Given the description of an element on the screen output the (x, y) to click on. 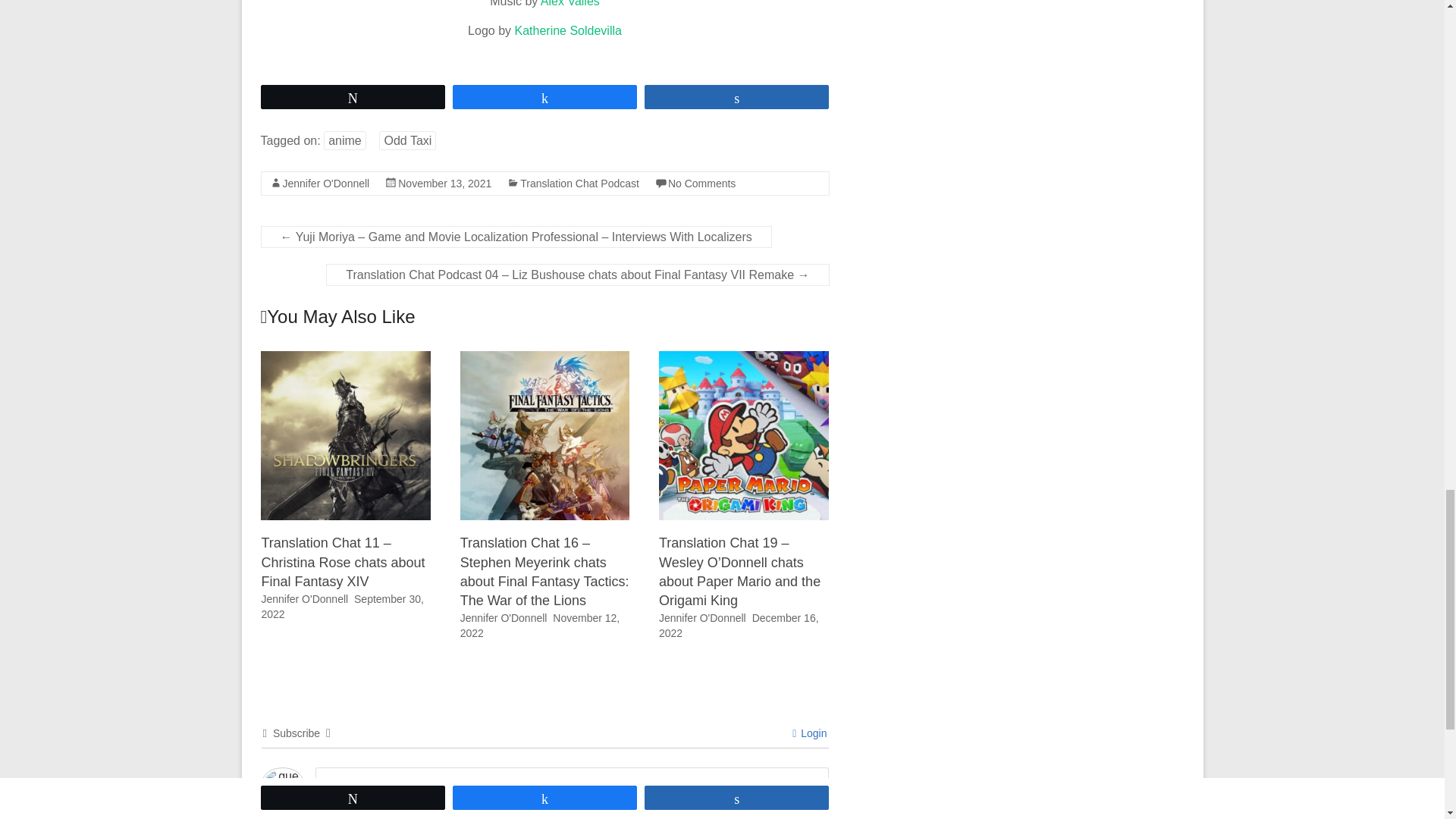
Alex Valles (569, 3)
Jennifer O'Donnell (503, 617)
November 13, 2021 (444, 183)
7:09 pm (540, 625)
10:51 pm (444, 183)
No Comments (701, 183)
November 12, 2022 (540, 625)
6:01 pm (341, 605)
Jennifer O'Donnell (303, 598)
anime (344, 140)
